Given the description of an element on the screen output the (x, y) to click on. 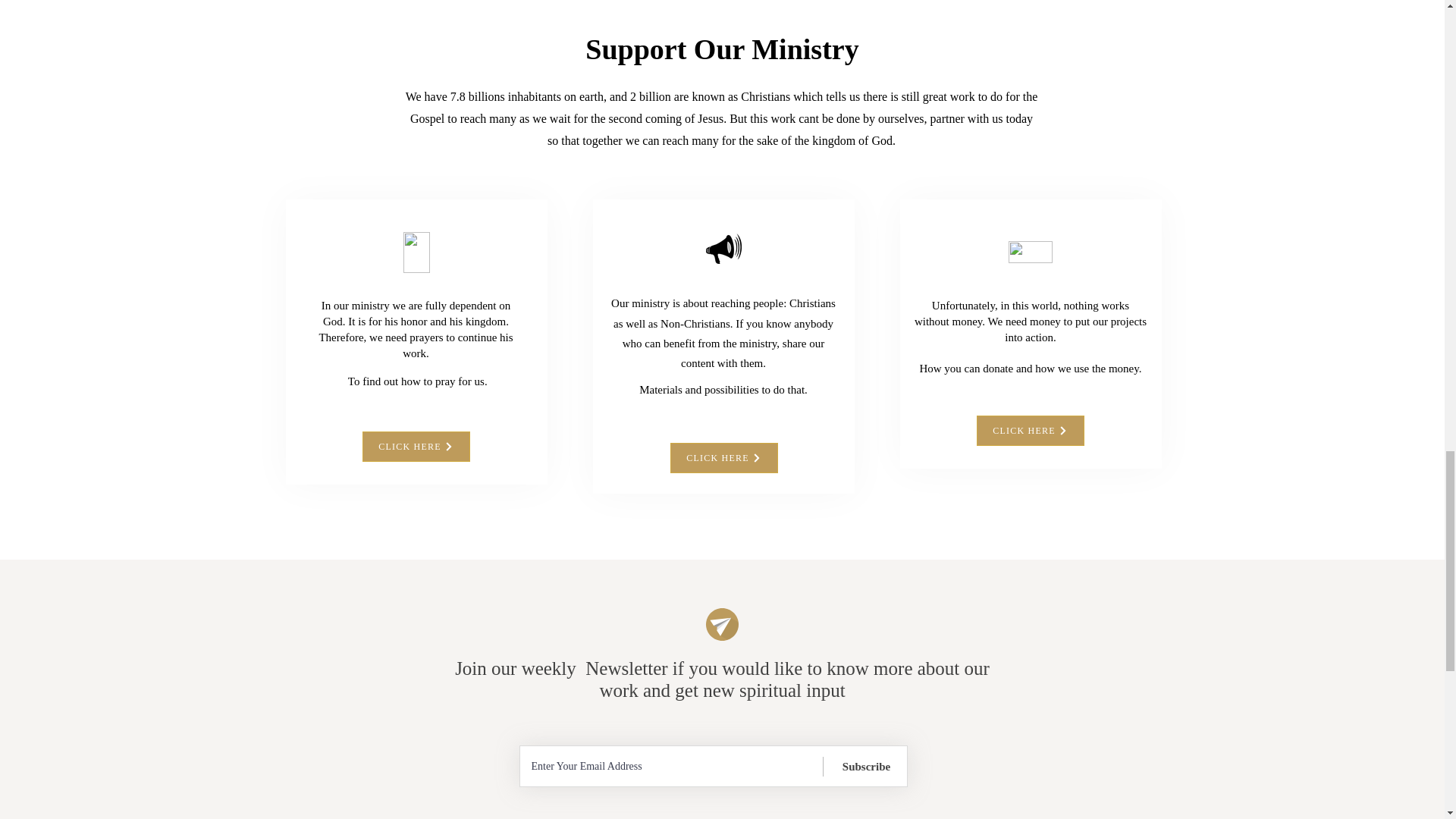
CLICK HERE (416, 446)
Megaphone.png (722, 248)
Subscribe (866, 766)
CLICK HERE (1030, 430)
hand.png (1030, 251)
CLICK HERE (723, 458)
